Given the description of an element on the screen output the (x, y) to click on. 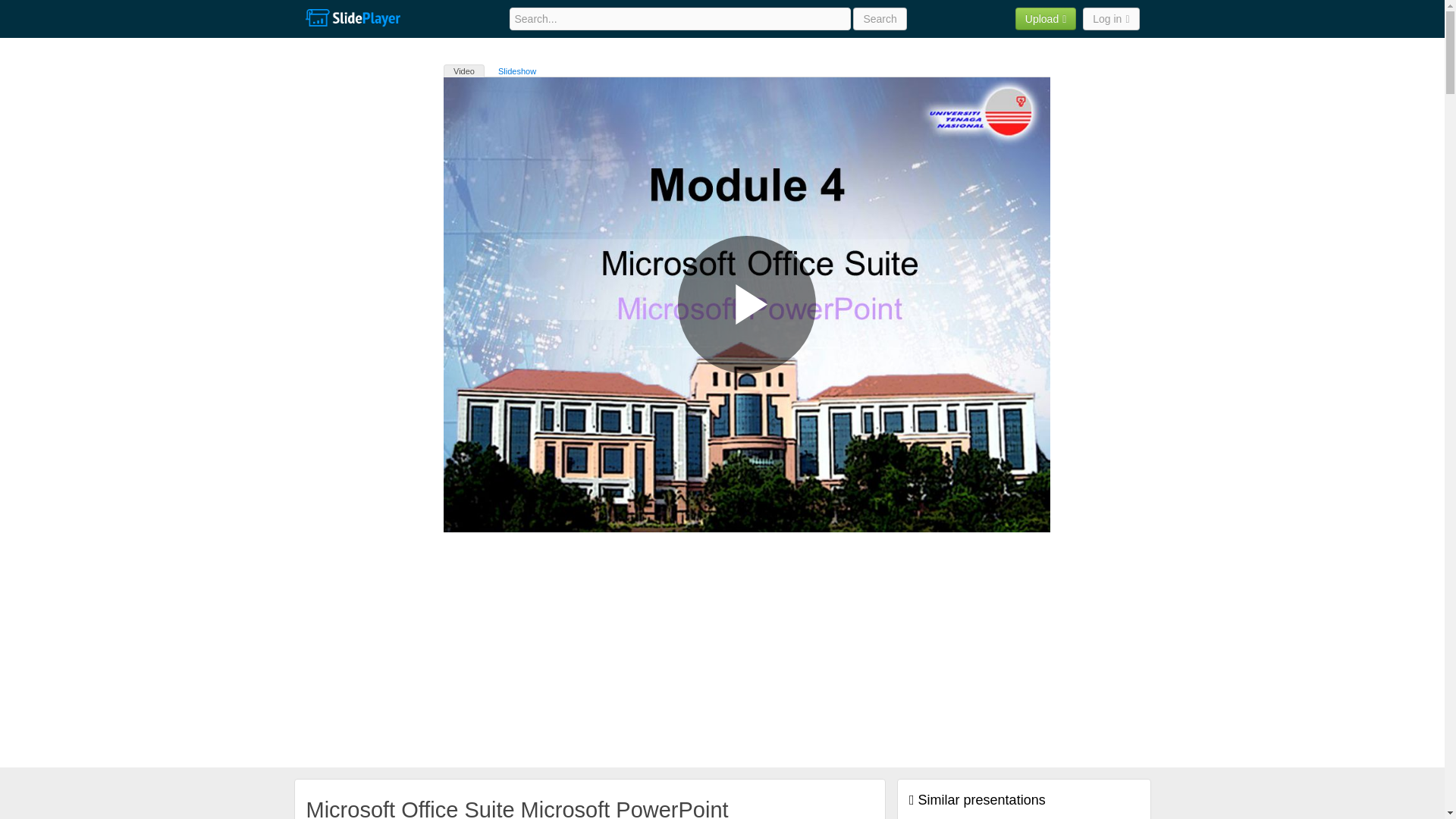
Upload (1045, 18)
Video (464, 70)
SlidePlayer (352, 18)
Log in (1110, 18)
Slideshow (516, 70)
Play Video (746, 304)
Search (879, 18)
